Given the description of an element on the screen output the (x, y) to click on. 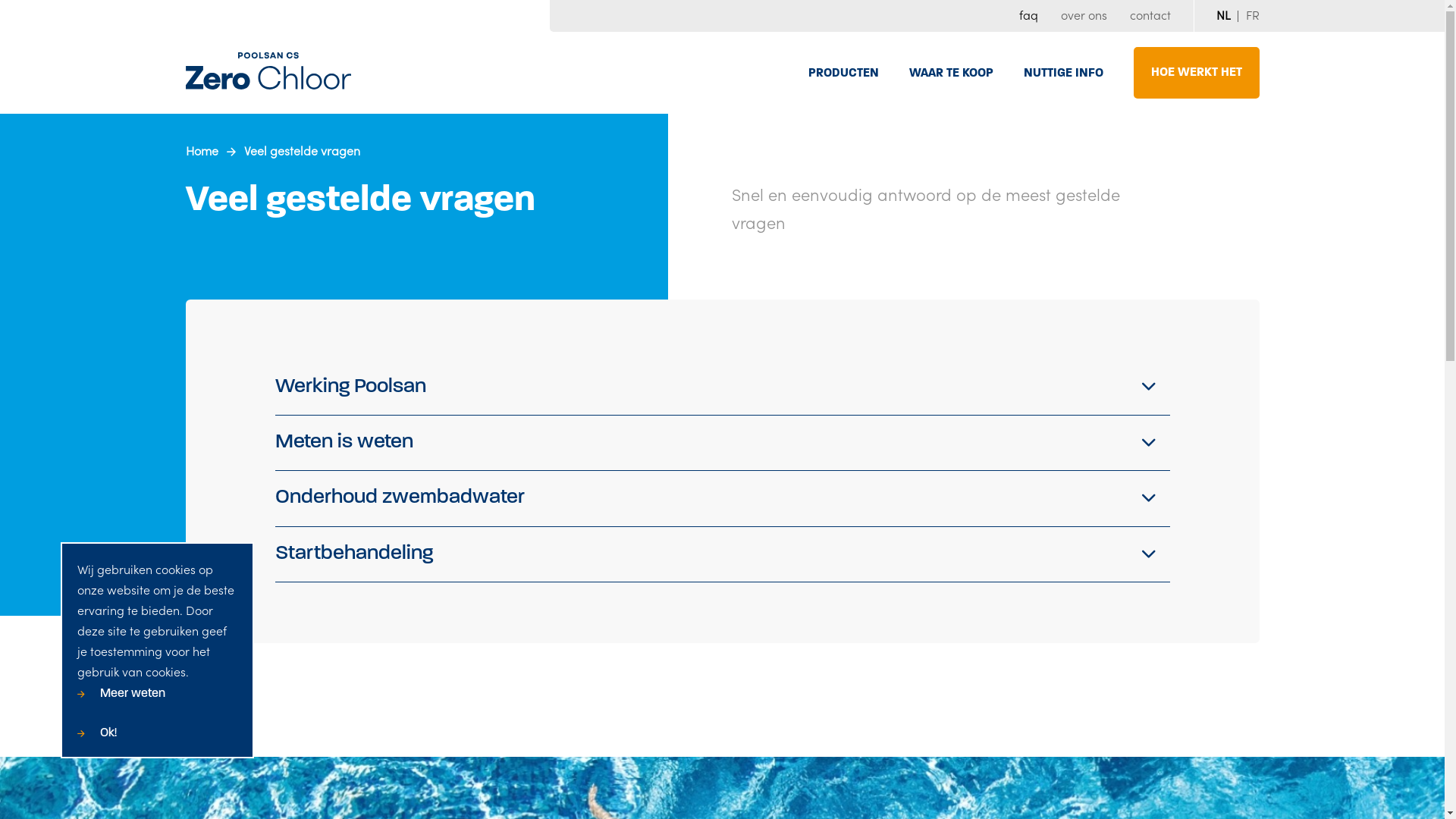
contact Element type: text (1149, 15)
Home Element type: text (201, 149)
FR Element type: text (1251, 15)
PRODUCTEN Element type: text (843, 73)
WAAR TE KOOP Element type: text (950, 73)
Meer weten Element type: text (121, 693)
faq Element type: text (1028, 15)
NUTTIGE INFO Element type: text (1063, 73)
Overslaan en naar de inhoud gaan Element type: text (0, 0)
HOE WERKT HET Element type: text (1195, 72)
over ons Element type: text (1083, 15)
Veel gestelde vragen Element type: text (302, 149)
NL Element type: text (1223, 15)
Ok! Element type: text (96, 733)
